Given the description of an element on the screen output the (x, y) to click on. 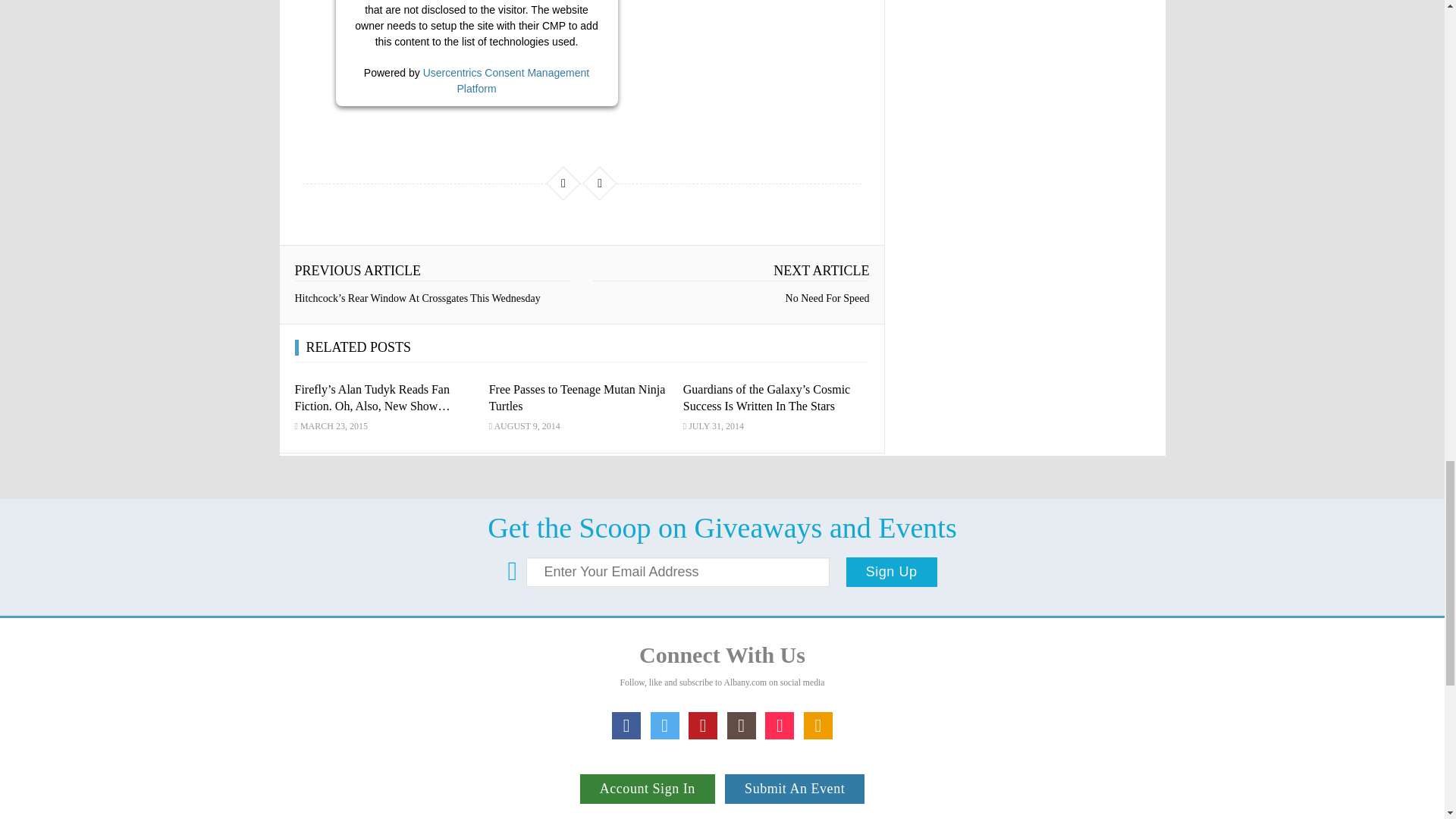
TikTok (779, 726)
Pinterest (702, 726)
Facebook (625, 726)
X (664, 726)
My Planner (817, 726)
Instagram (740, 726)
Free Passes to Teenage Mutan Ninja Turtles (577, 398)
